Given the description of an element on the screen output the (x, y) to click on. 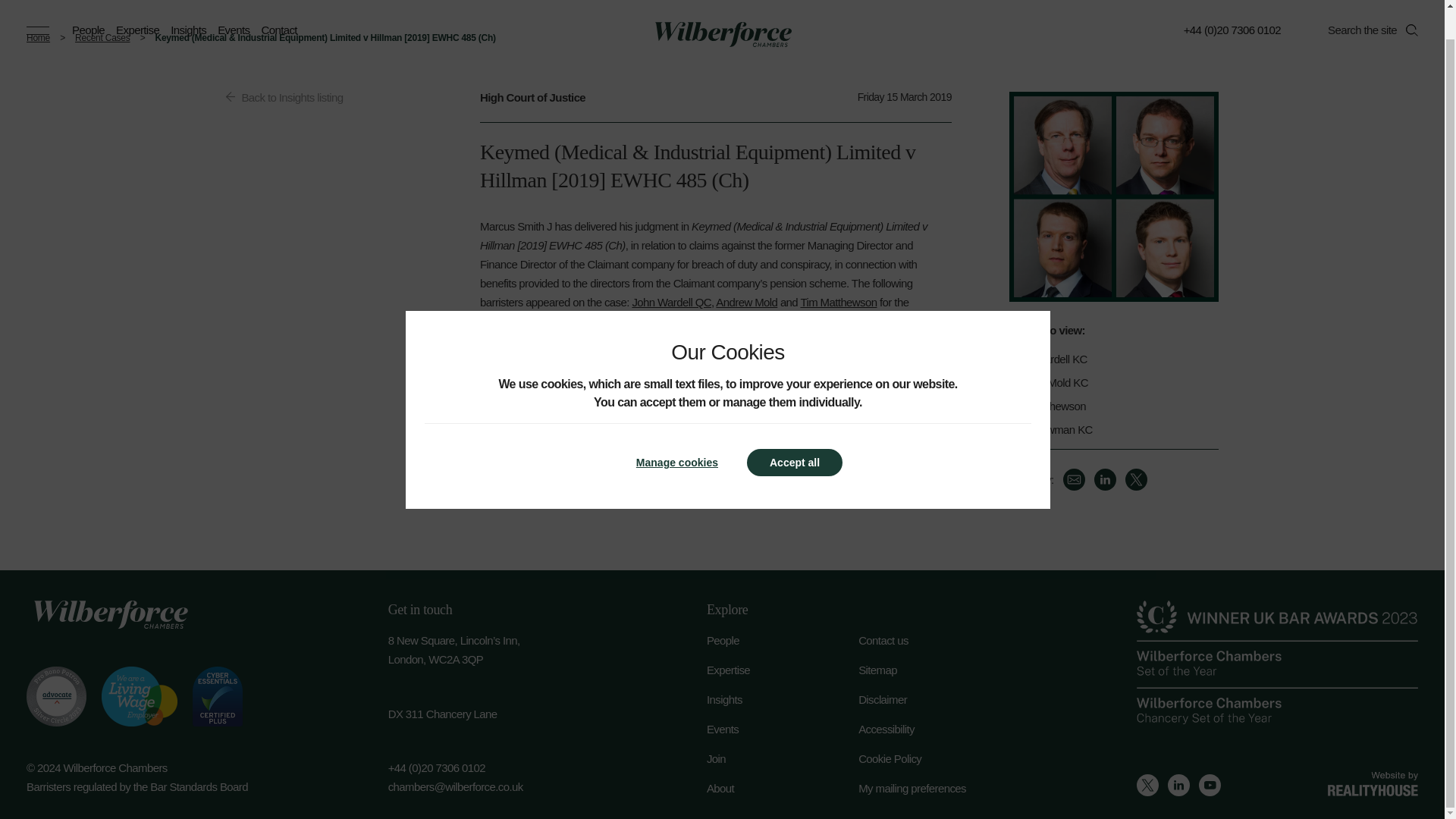
Events (232, 6)
Contact (278, 6)
Andrew Mold KC (1106, 382)
Events (782, 729)
Search (1412, 5)
Home (42, 37)
People (782, 640)
Sitemap (934, 669)
Insights (782, 699)
Cookie Policy (934, 758)
LinkedIn (1105, 479)
Paul Newman QC (634, 320)
Disclaimer (934, 699)
Contact us (934, 640)
Tim Matthewson (1106, 406)
